Given the description of an element on the screen output the (x, y) to click on. 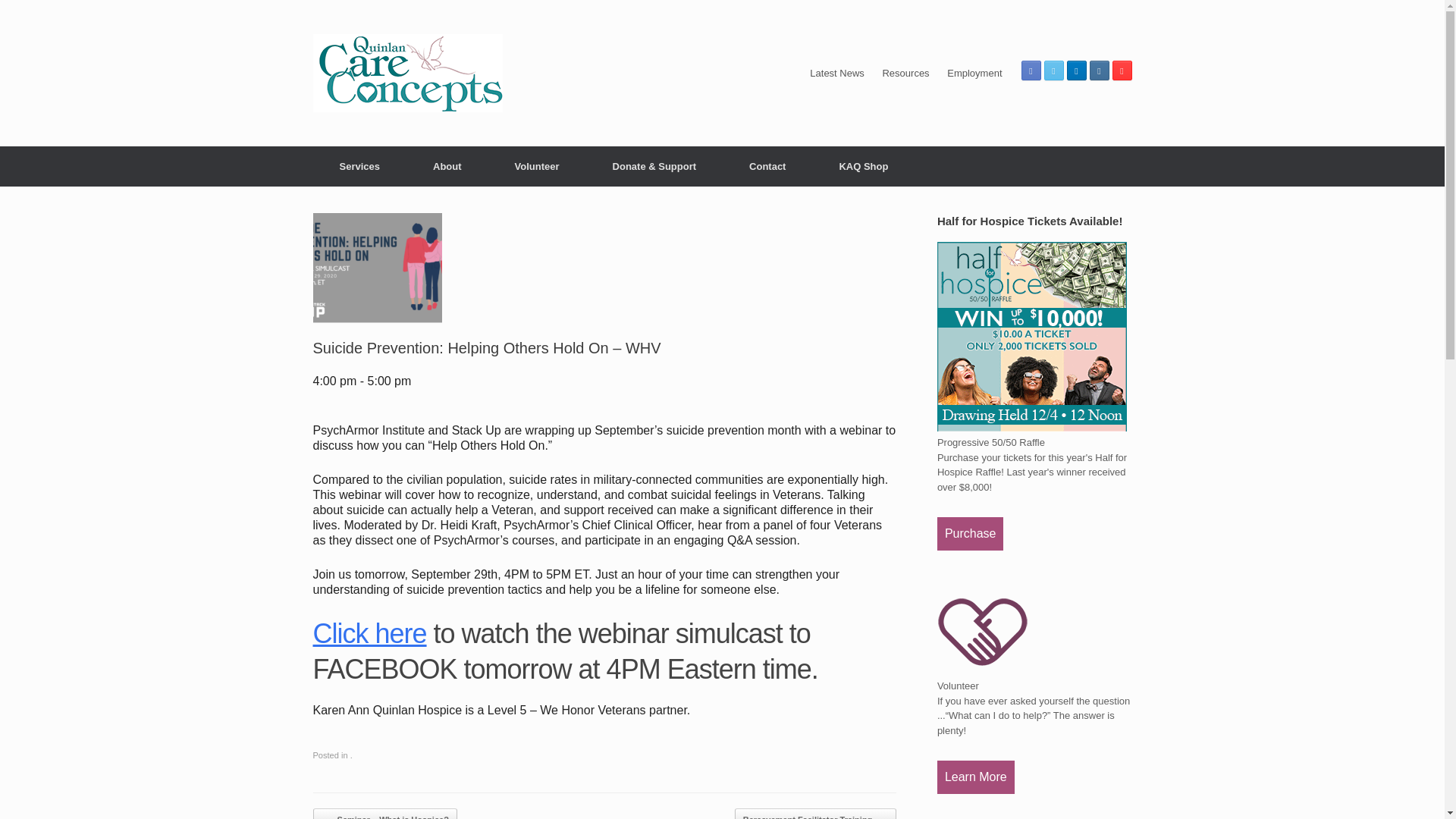
Volunteer (536, 166)
Services (359, 166)
Contact (767, 166)
Employment (974, 72)
 LinkedIn (1075, 70)
KAQ Shop (863, 166)
About (446, 166)
 Facebook (1030, 70)
 Instagram (1098, 70)
 YouTube (1121, 70)
